Given the description of an element on the screen output the (x, y) to click on. 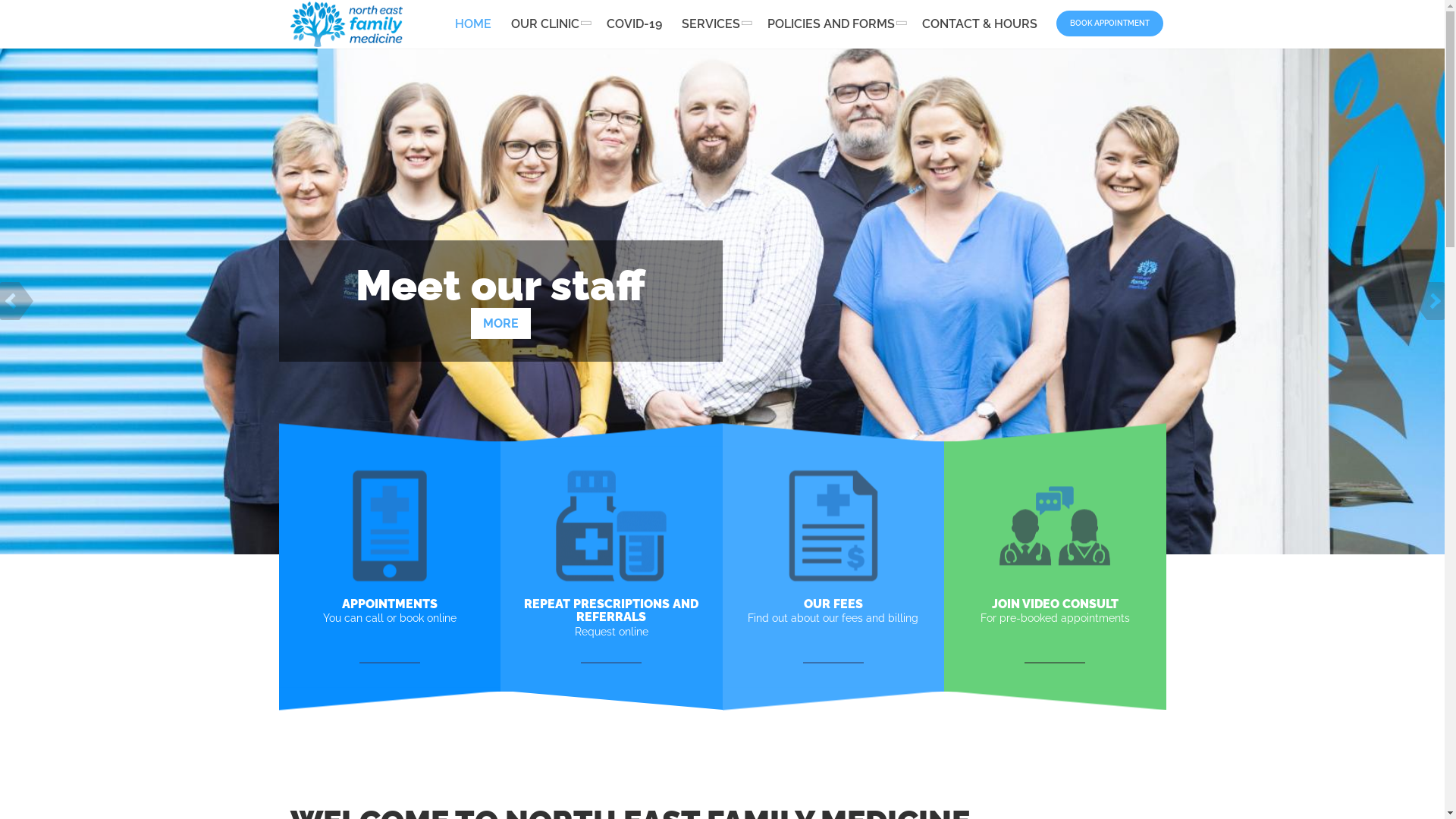
HOME Element type: text (472, 23)
Join Video Appointment Element type: hover (1054, 523)
POLICIES AND FORMS Element type: text (833, 23)
OUR CLINIC Element type: text (548, 23)
BOOK APPOINTMENT Element type: text (1109, 23)
MORE Element type: text (500, 322)
CONTACT & HOURS Element type: text (978, 23)
COVID-19 Element type: text (633, 23)
SERVICES Element type: text (714, 23)
